Given the description of an element on the screen output the (x, y) to click on. 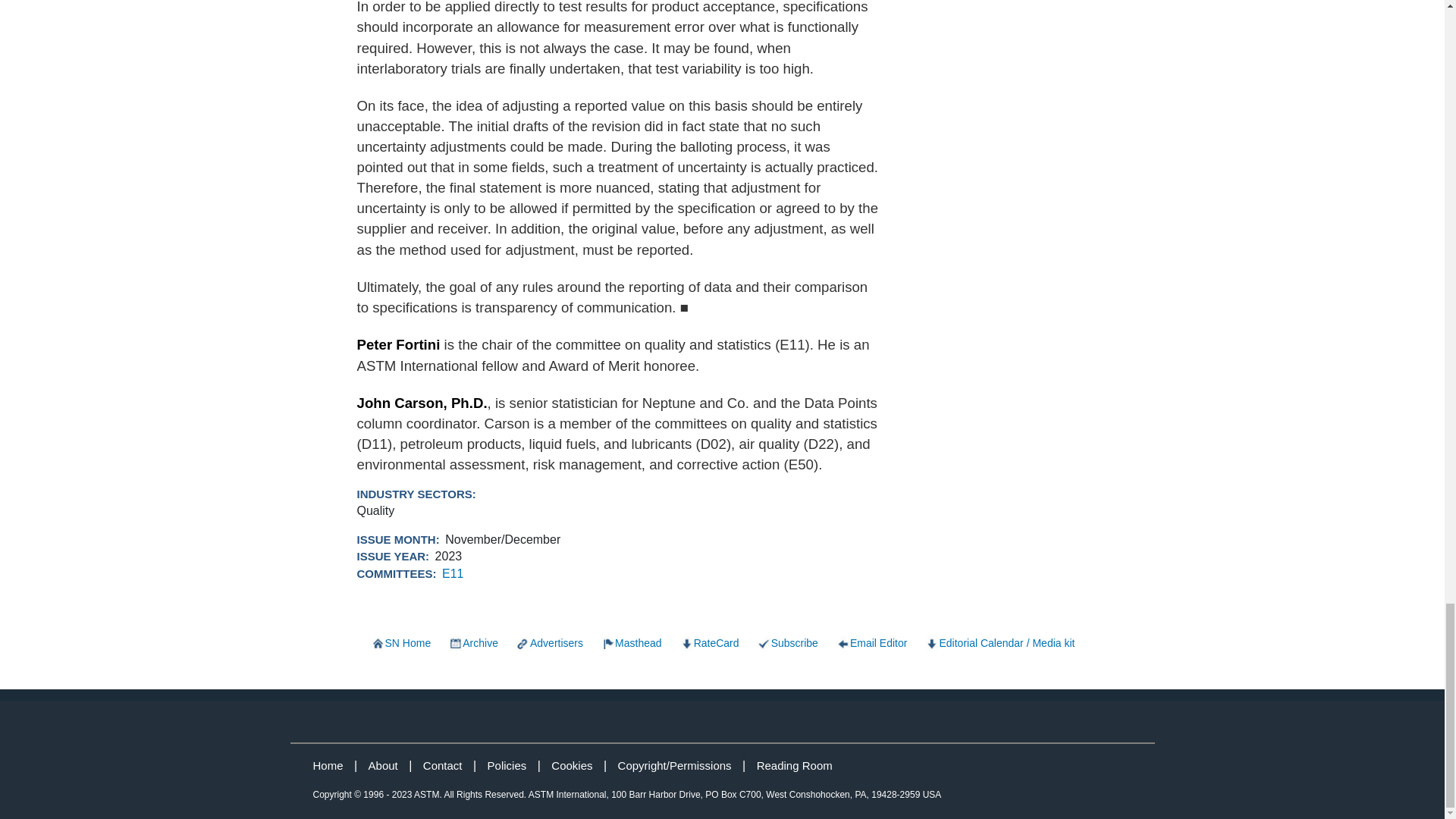
Quality (375, 510)
Editorial Calendar and Media Kit (998, 643)
Editorial Calendar (399, 643)
E11 (452, 573)
